Given the description of an element on the screen output the (x, y) to click on. 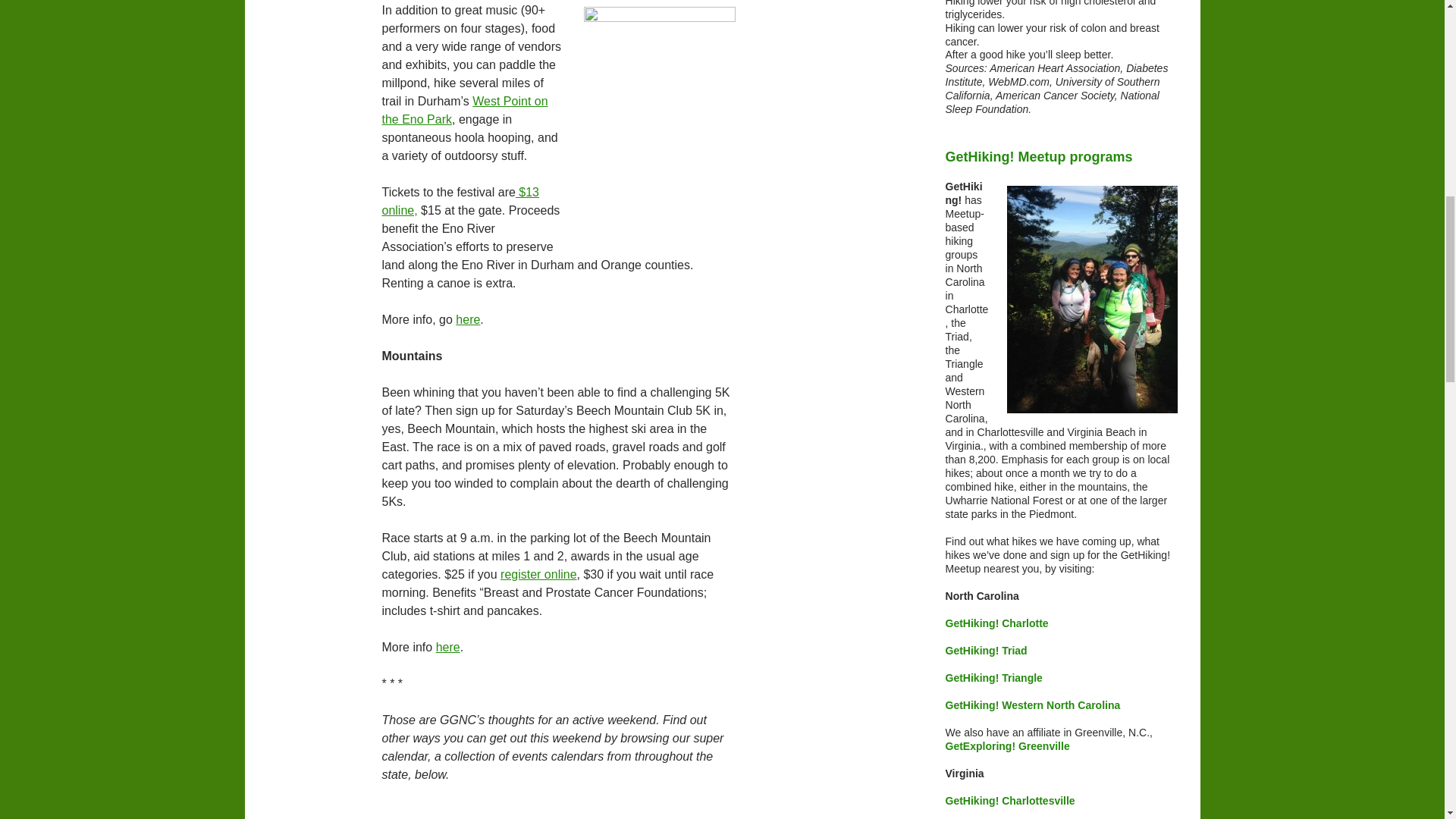
GetHiking! Meetup programs (1060, 157)
GetHiking! Charlotte (996, 623)
register online (538, 574)
here (447, 646)
West Point on the Eno Park (464, 110)
here (467, 318)
